Given the description of an element on the screen output the (x, y) to click on. 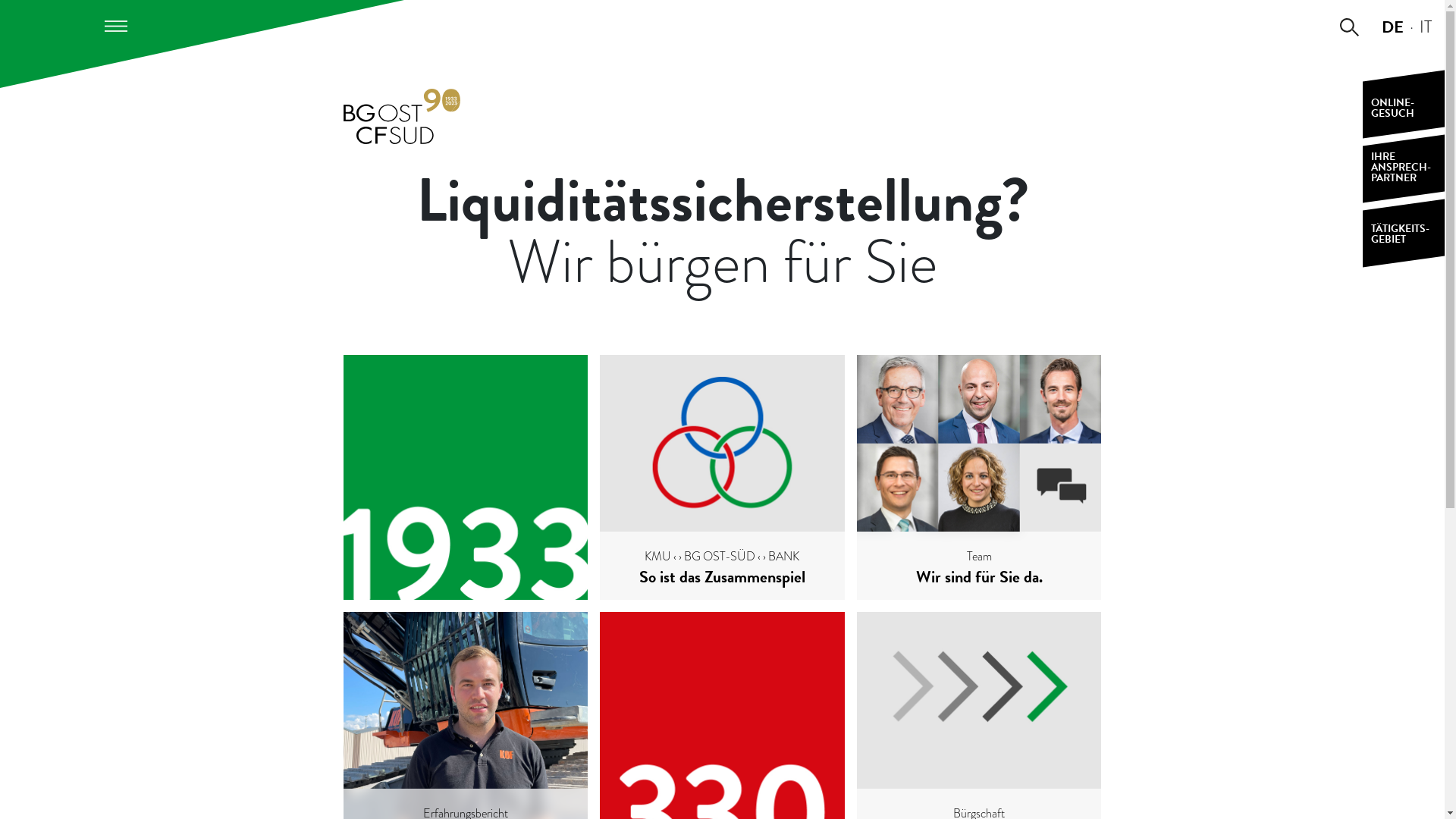
IT Element type: text (1425, 26)
IHRE ANSPRECH-
PARTNER Element type: text (1403, 168)
ONLINE-GESUCH Element type: text (1403, 103)
DE Element type: text (1392, 26)
